Given the description of an element on the screen output the (x, y) to click on. 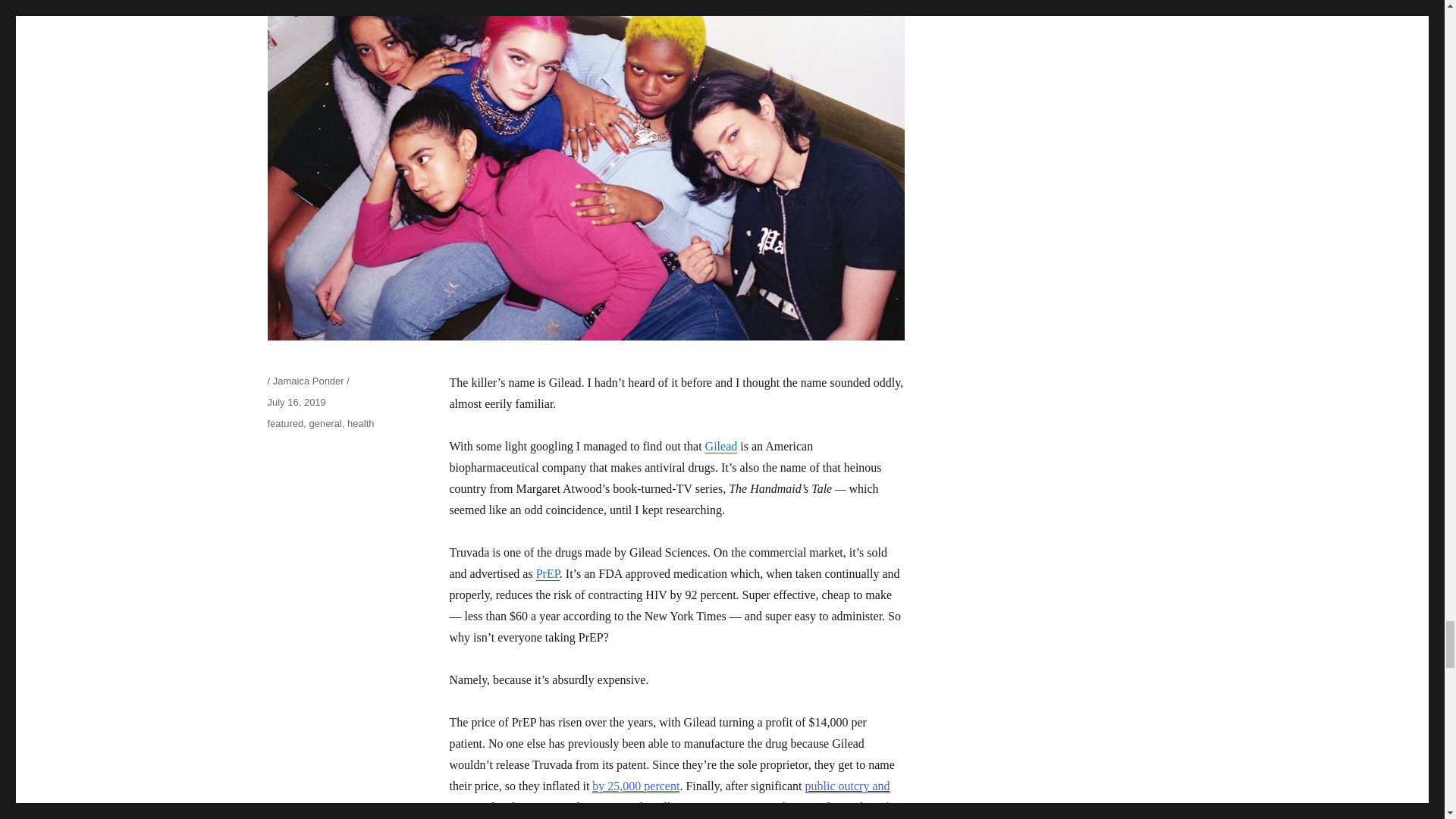
PrEP (547, 573)
Gilead (721, 445)
but only by one company and in 2020 (674, 809)
by 25,000 percent (635, 785)
public outcry and protest (668, 796)
